Given the description of an element on the screen output the (x, y) to click on. 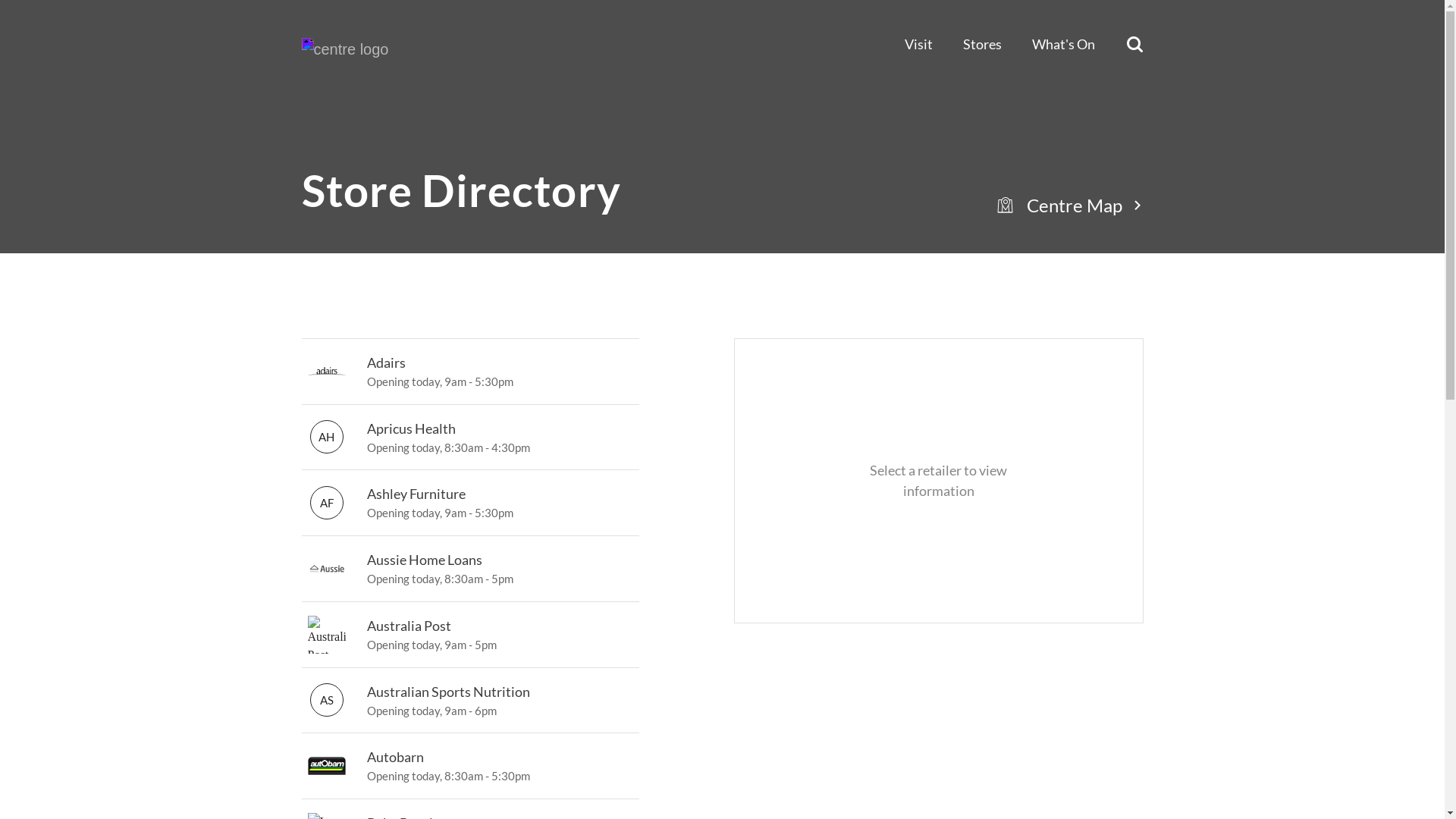
Centre Map Element type: text (1074, 205)
Stores Element type: text (982, 44)
Visit Element type: text (917, 44)
What's On Element type: text (1062, 44)
